Given the description of an element on the screen output the (x, y) to click on. 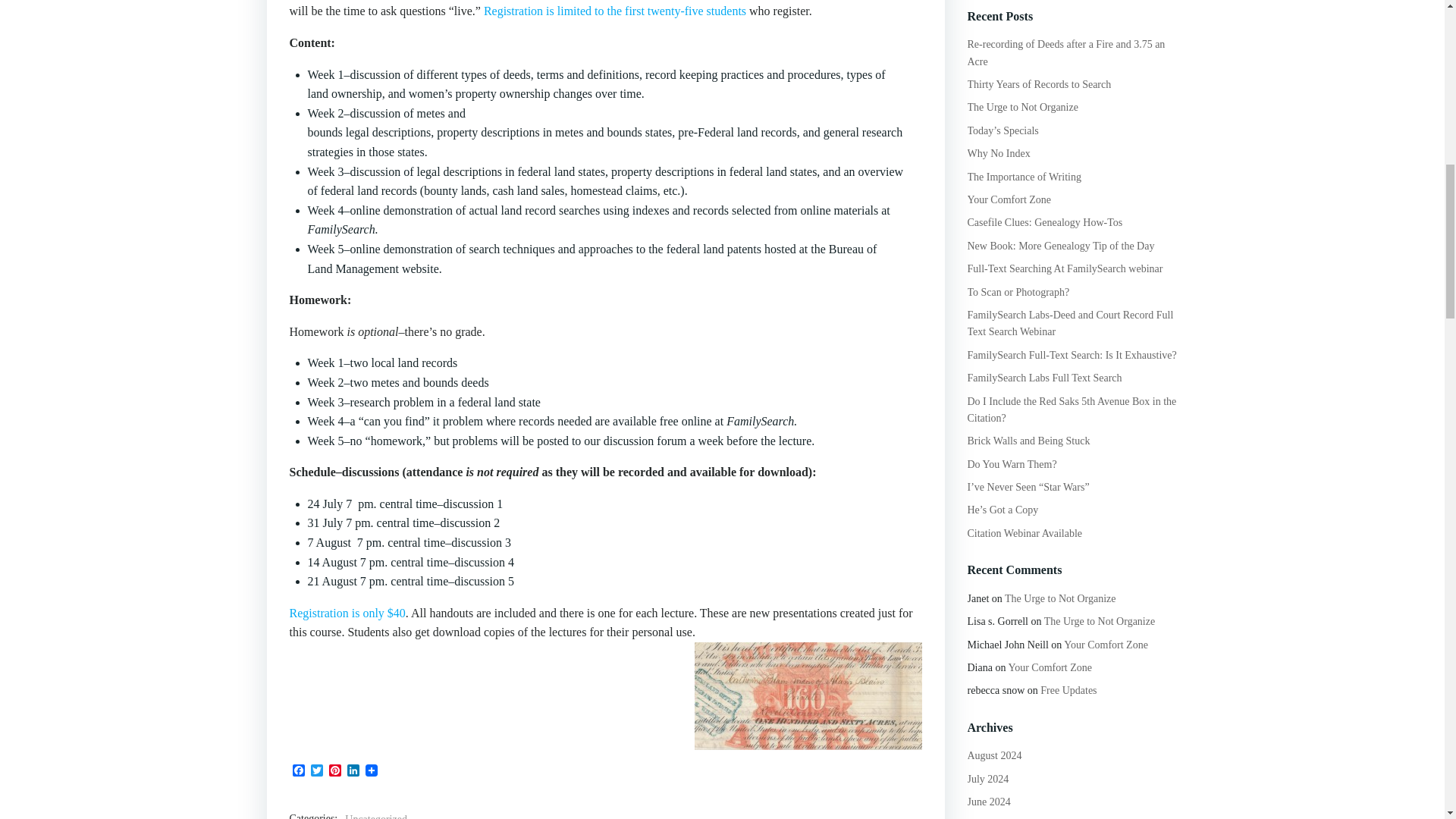
Facebook (298, 772)
Registration is limited to the first twenty-five students (616, 10)
Uncategorized (376, 815)
LinkedIn (352, 772)
Re-recording of Deeds after a Fire and 3.75 an Acre (1067, 52)
Thirty Years of Records to Search (1040, 84)
LinkedIn (352, 772)
Facebook (298, 772)
Twitter (316, 772)
Pinterest (334, 772)
